Given the description of an element on the screen output the (x, y) to click on. 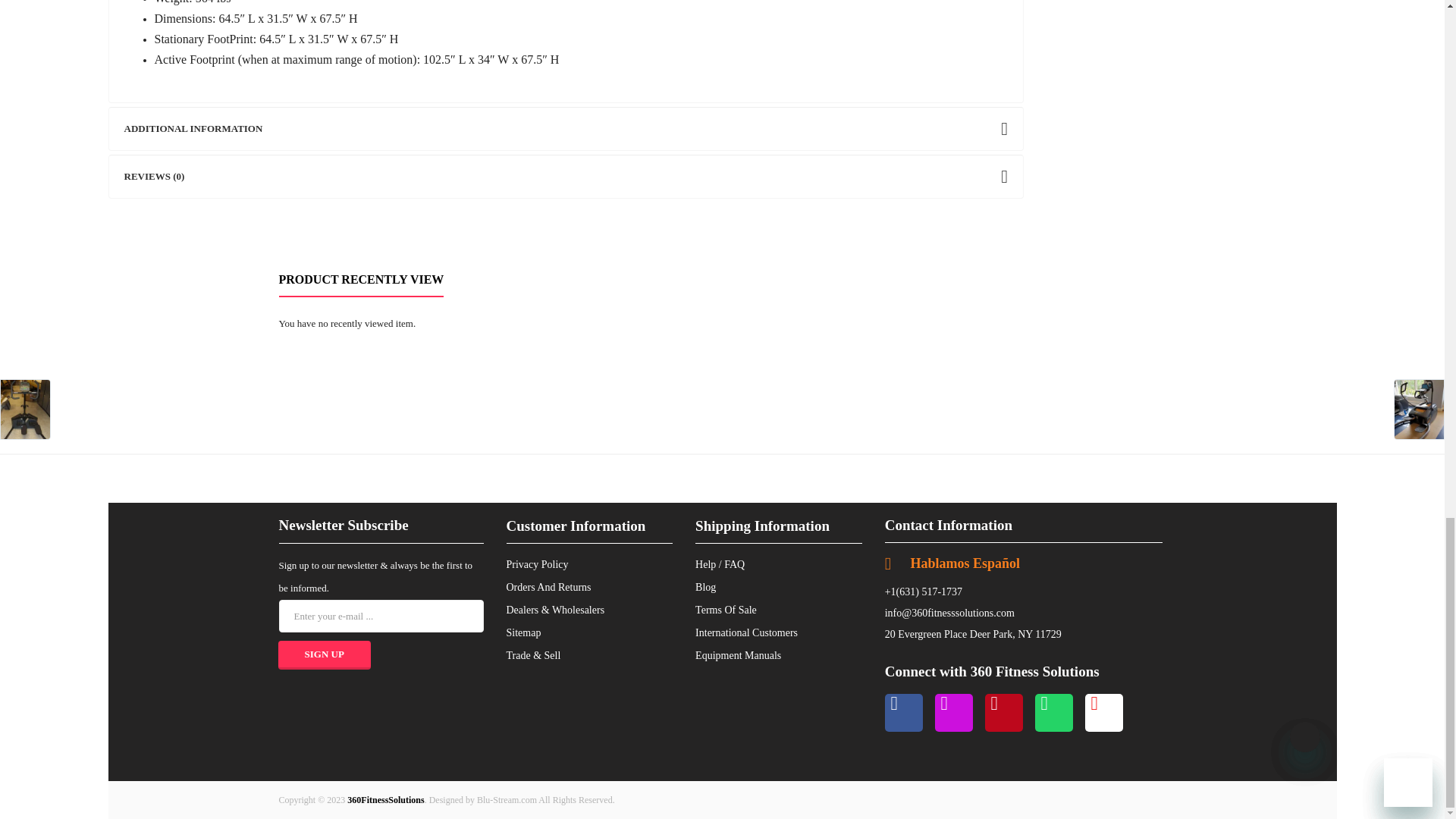
SIGN UP (323, 654)
